Given the description of an element on the screen output the (x, y) to click on. 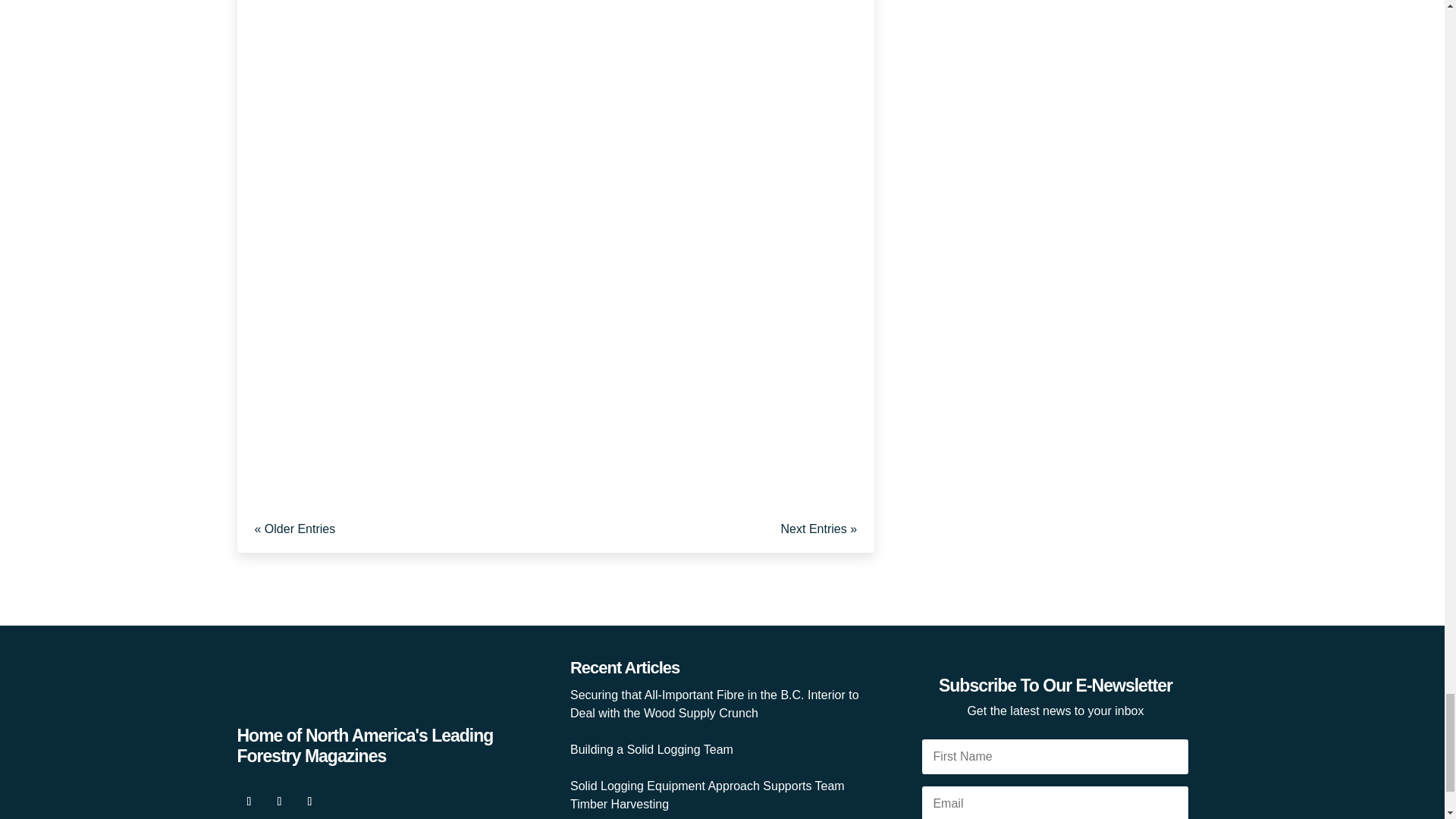
Follow on Facebook (247, 801)
Follow on Instagram (309, 801)
Follow on X (278, 801)
